Given the description of an element on the screen output the (x, y) to click on. 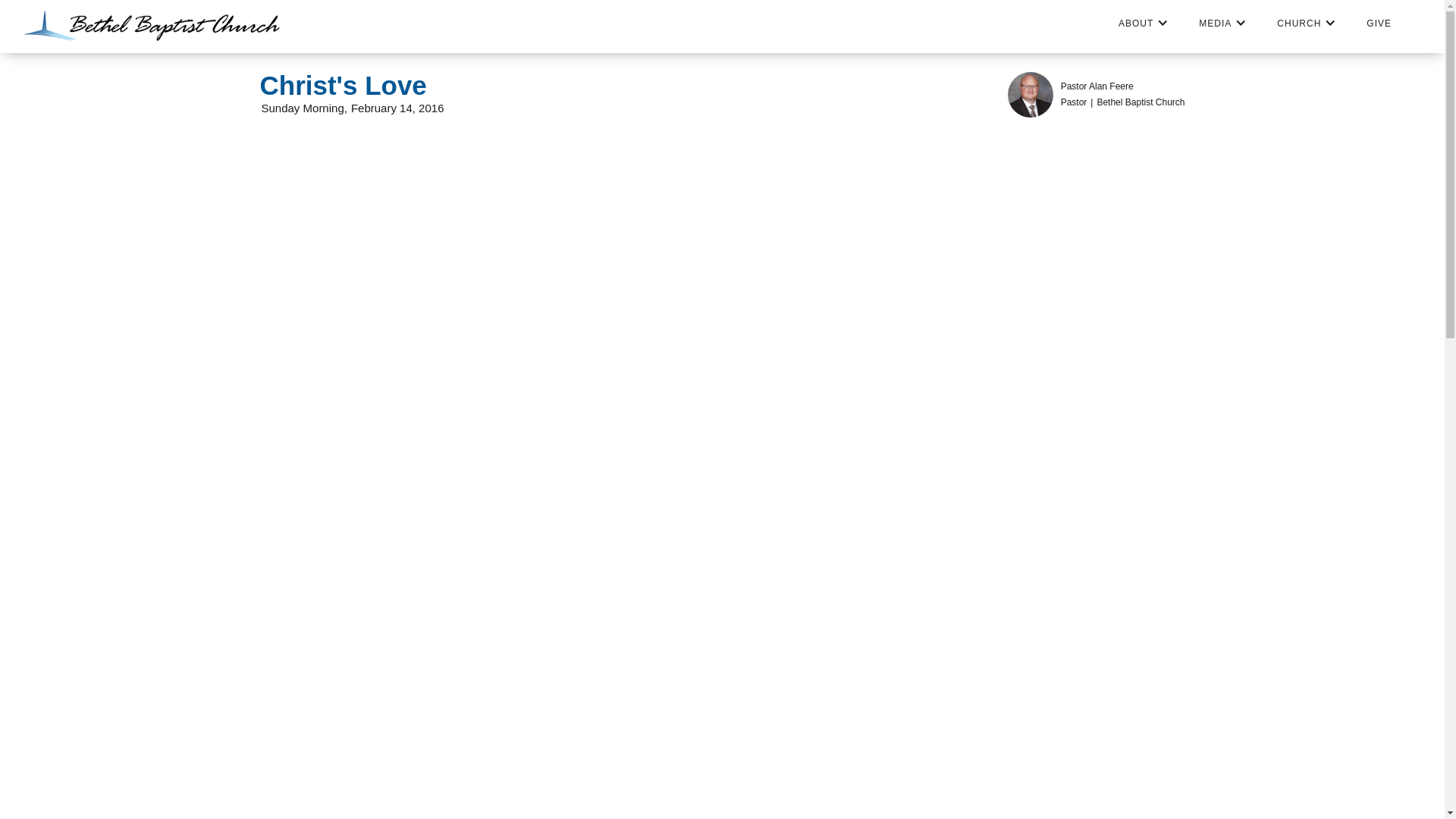
GIVE Element type: text (1378, 23)
